Given the description of an element on the screen output the (x, y) to click on. 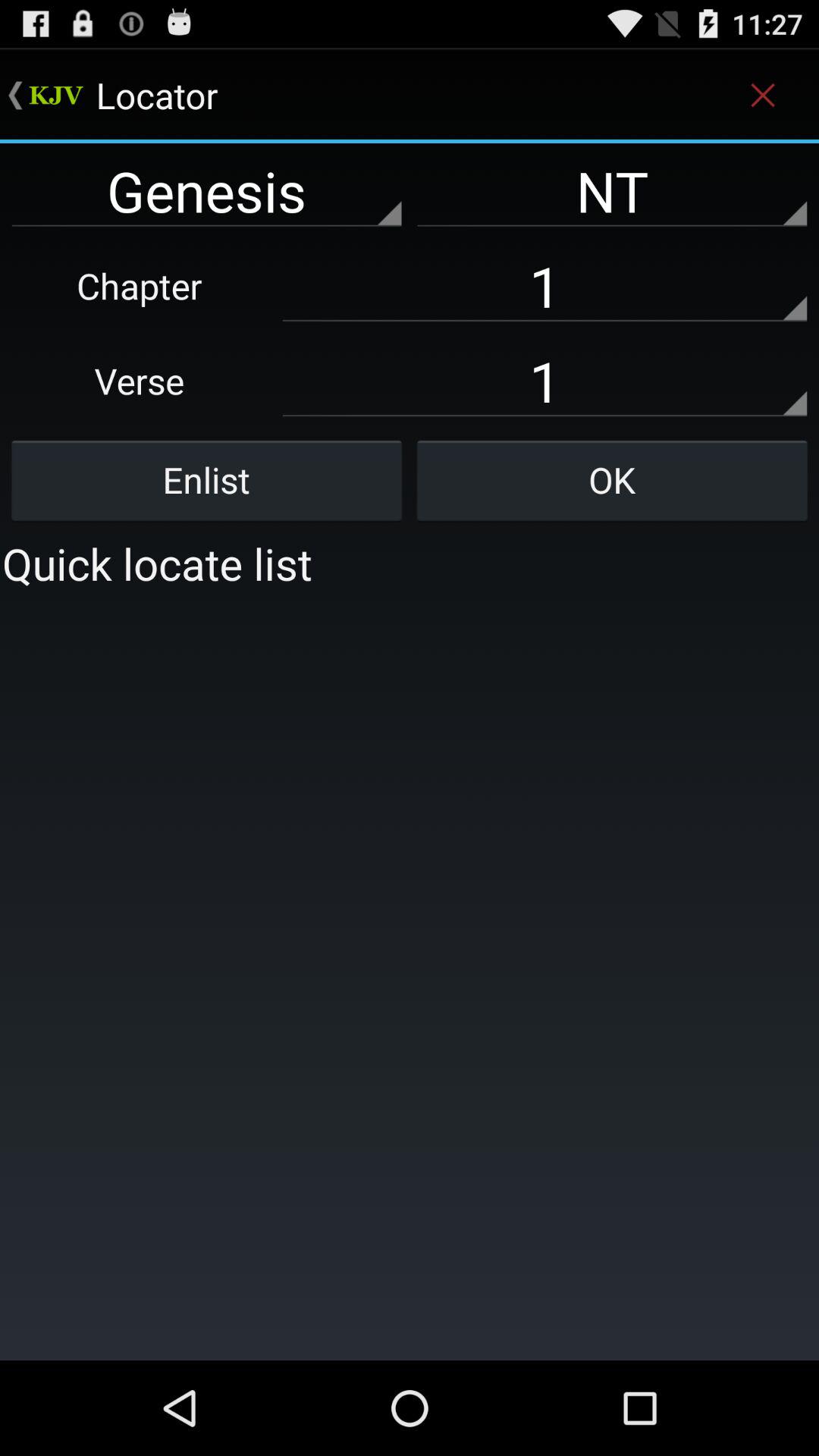
choose the icon above nt item (763, 95)
